Given the description of an element on the screen output the (x, y) to click on. 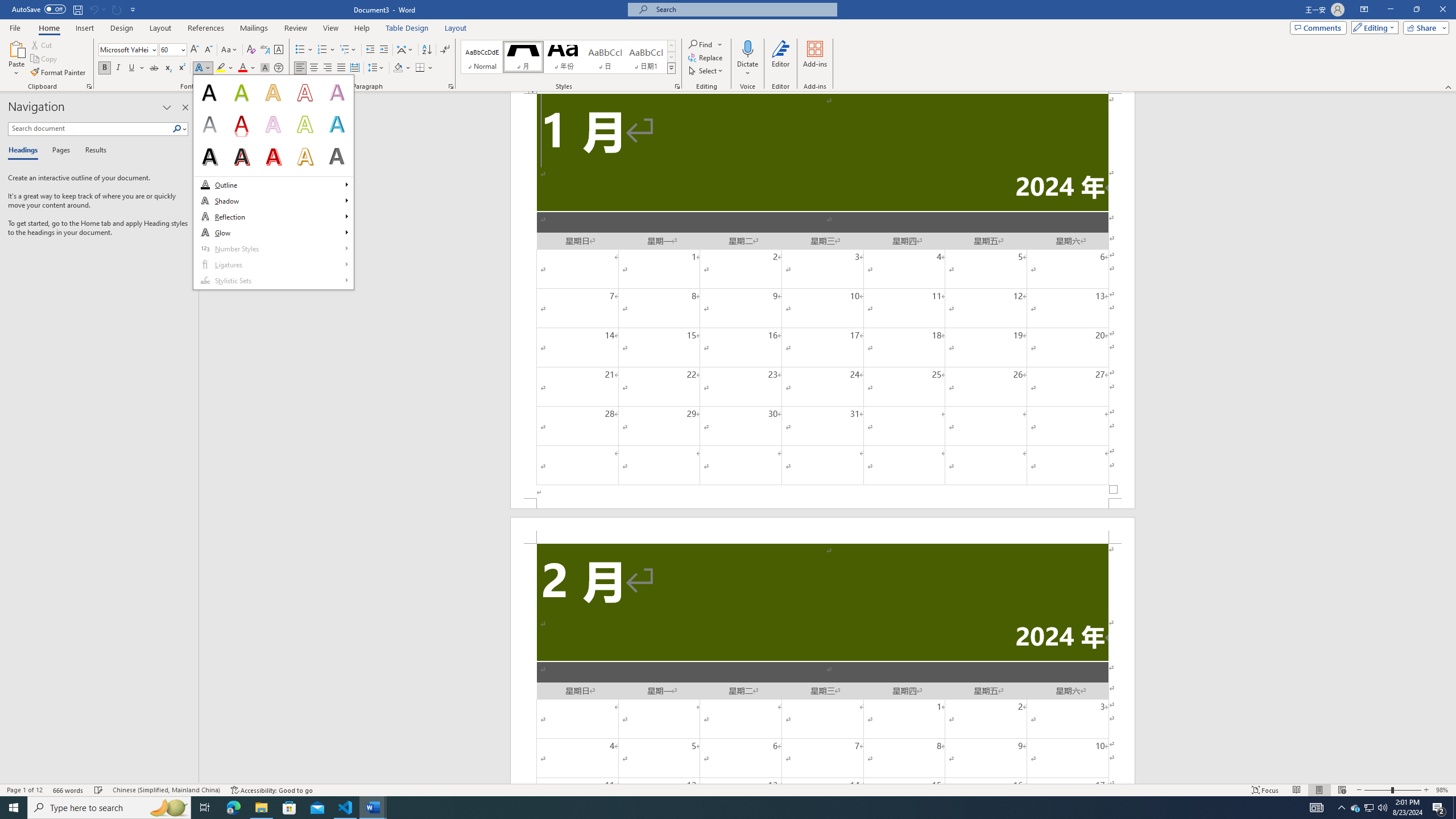
Font Color RGB(255, 0, 0) (241, 67)
